Given the description of an element on the screen output the (x, y) to click on. 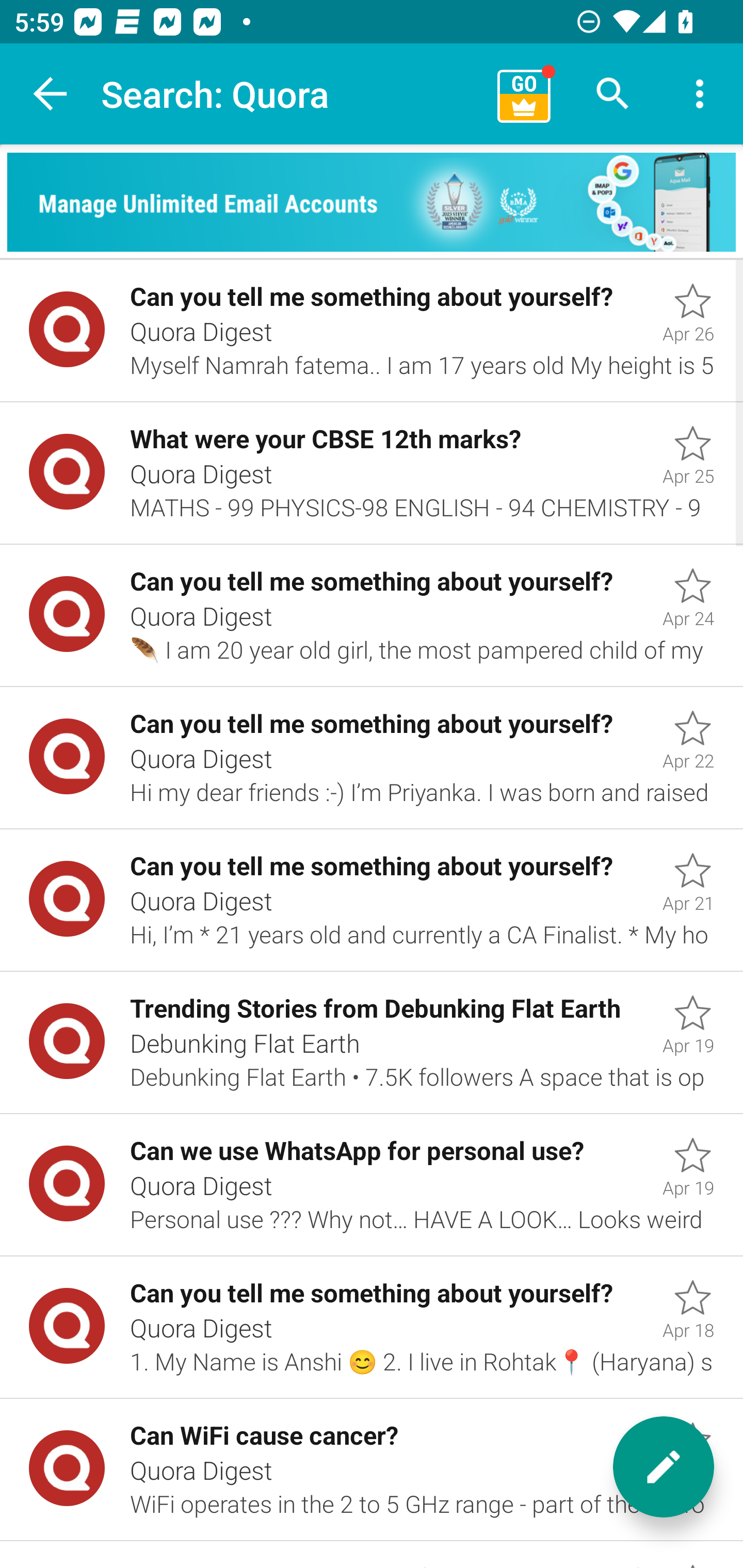
Navigate up (50, 93)
Search (612, 93)
More options (699, 93)
New message (663, 1466)
